Given the description of an element on the screen output the (x, y) to click on. 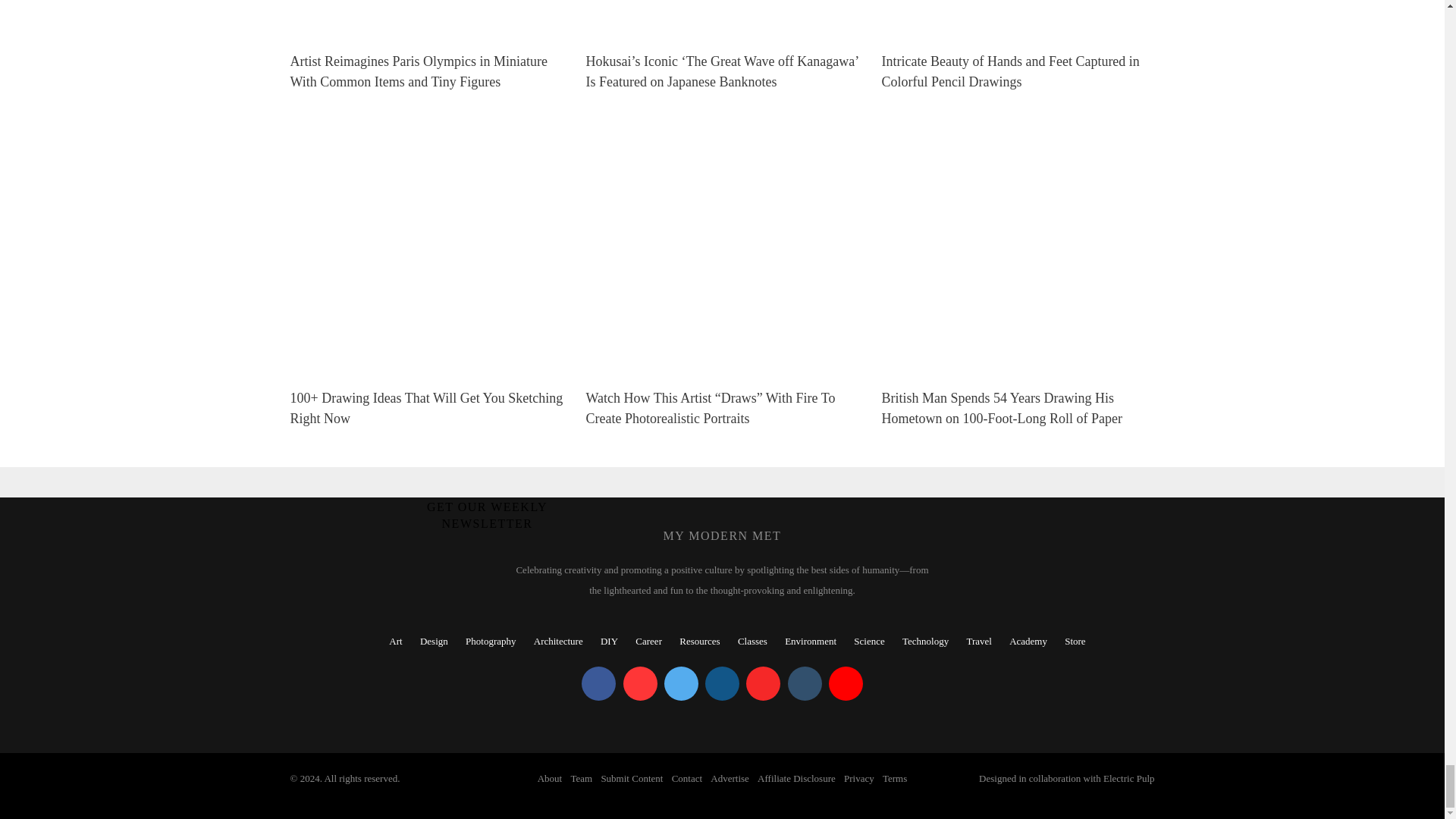
My Modern Met on YouTube (845, 683)
My Modern Met on Tumblr (804, 683)
My Modern Met on Pinterest (640, 683)
My Modern Met on Twitter (680, 683)
My Modern Met on Instagram (721, 683)
My Modern Met on Facebook (597, 683)
